Given the description of an element on the screen output the (x, y) to click on. 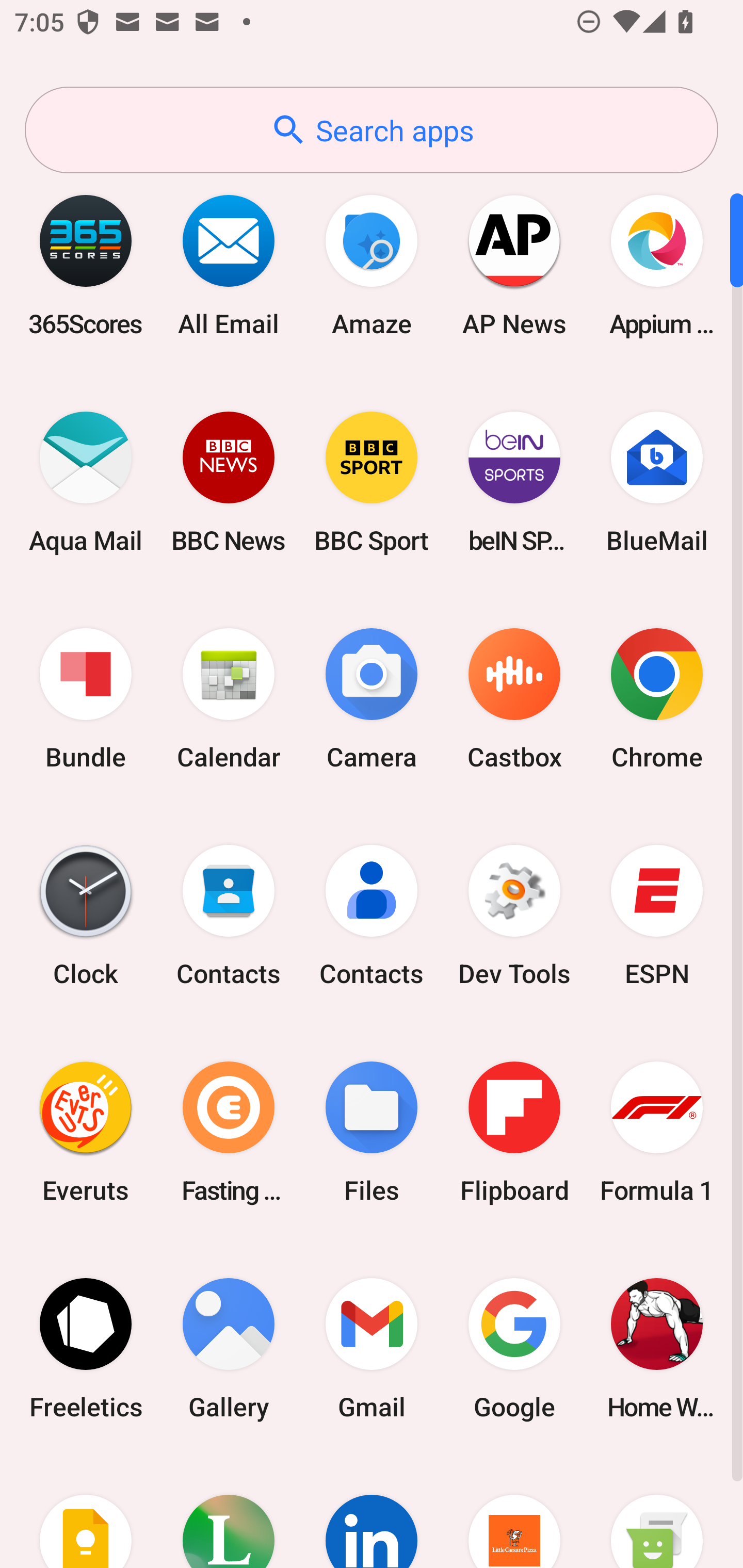
  Search apps (371, 130)
365Scores (85, 264)
All Email (228, 264)
Amaze (371, 264)
AP News (514, 264)
Appium Settings (656, 264)
Aqua Mail (85, 482)
BBC News (228, 482)
BBC Sport (371, 482)
beIN SPORTS (514, 482)
BlueMail (656, 482)
Bundle (85, 699)
Calendar (228, 699)
Camera (371, 699)
Castbox (514, 699)
Chrome (656, 699)
Clock (85, 915)
Contacts (228, 915)
Contacts (371, 915)
Dev Tools (514, 915)
ESPN (656, 915)
Everuts (85, 1131)
Fasting Coach (228, 1131)
Files (371, 1131)
Flipboard (514, 1131)
Formula 1 (656, 1131)
Freeletics (85, 1348)
Gallery (228, 1348)
Gmail (371, 1348)
Google (514, 1348)
Home Workout (656, 1348)
